Given the description of an element on the screen output the (x, y) to click on. 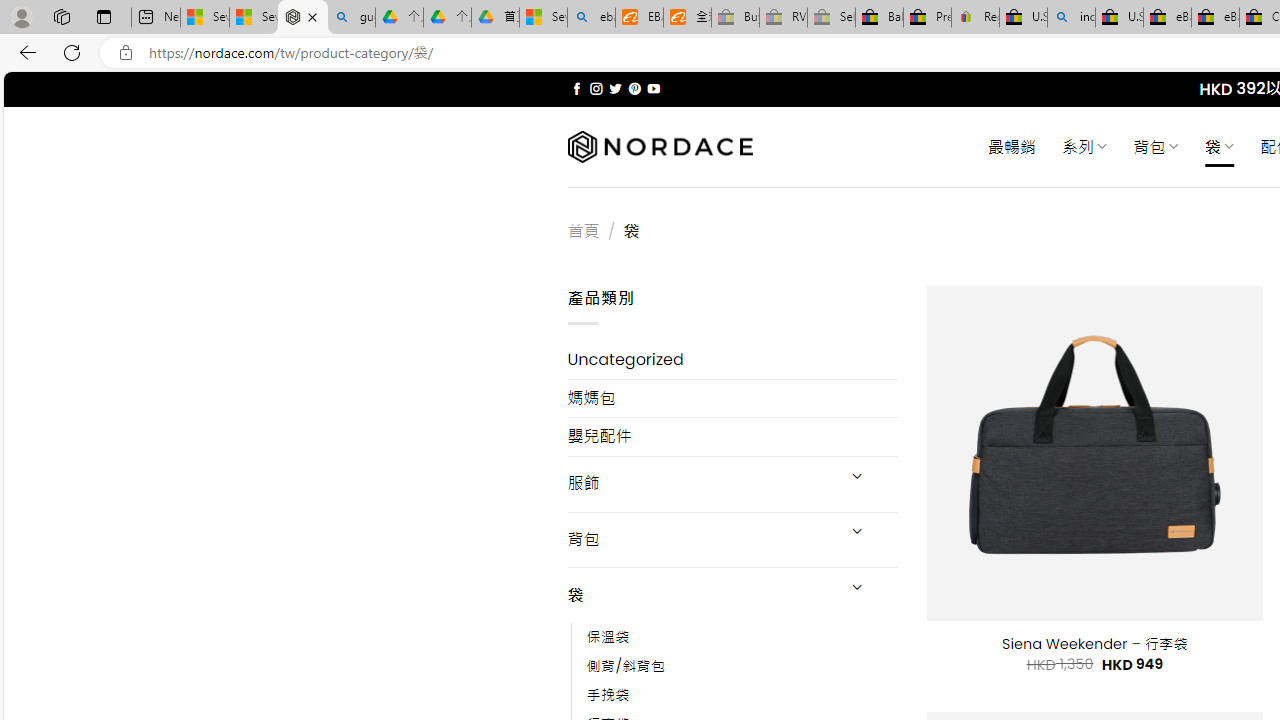
Press Room - eBay Inc. (927, 17)
Follow on Facebook (576, 88)
